Given the description of an element on the screen output the (x, y) to click on. 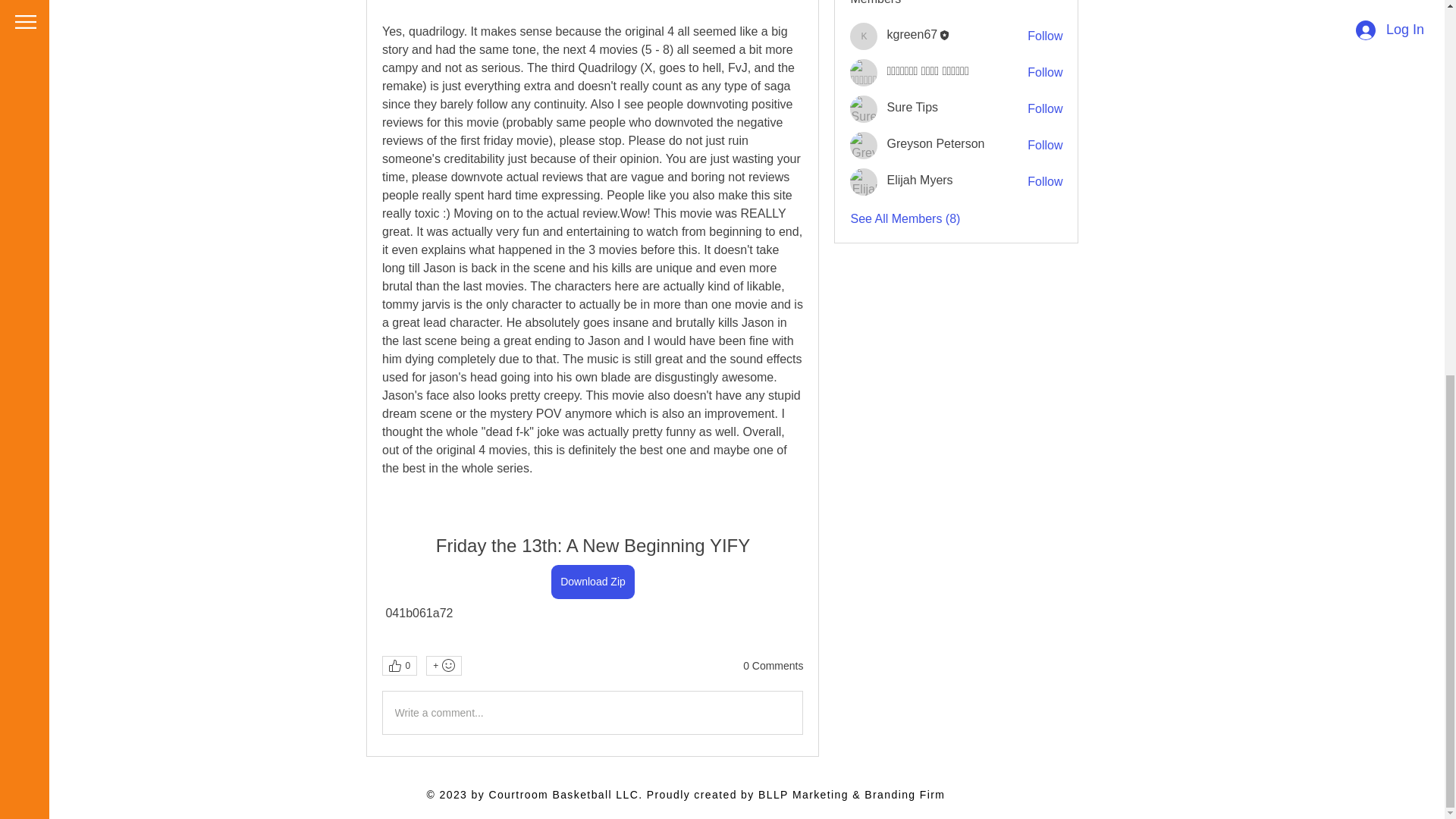
kgreen67 (863, 35)
Write a comment... (591, 712)
kgreen67 (911, 33)
Download Zip (592, 581)
Follow (1044, 181)
Follow (1044, 72)
Follow (1044, 108)
Elijah Myers (863, 181)
Follow (1044, 36)
Elijah Myers (919, 179)
Sure Tips (863, 108)
Sure Tips (911, 106)
Greyson Peterson (863, 144)
